Given the description of an element on the screen output the (x, y) to click on. 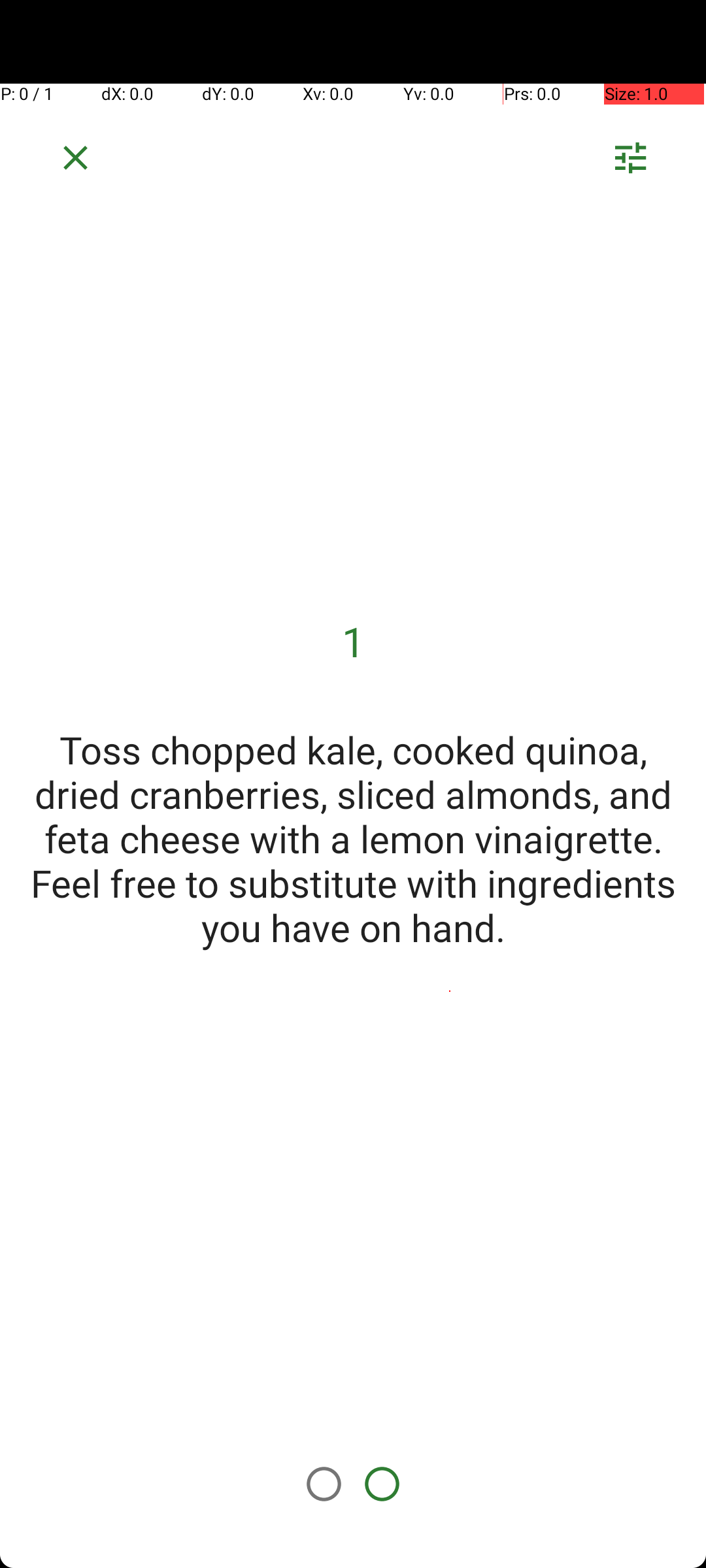
Toss chopped kale, cooked quinoa, dried cranberries, sliced almonds, and feta cheese with a lemon vinaigrette. Feel free to substitute with ingredients you have on hand. Element type: android.widget.TextView (352, 837)
